Given the description of an element on the screen output the (x, y) to click on. 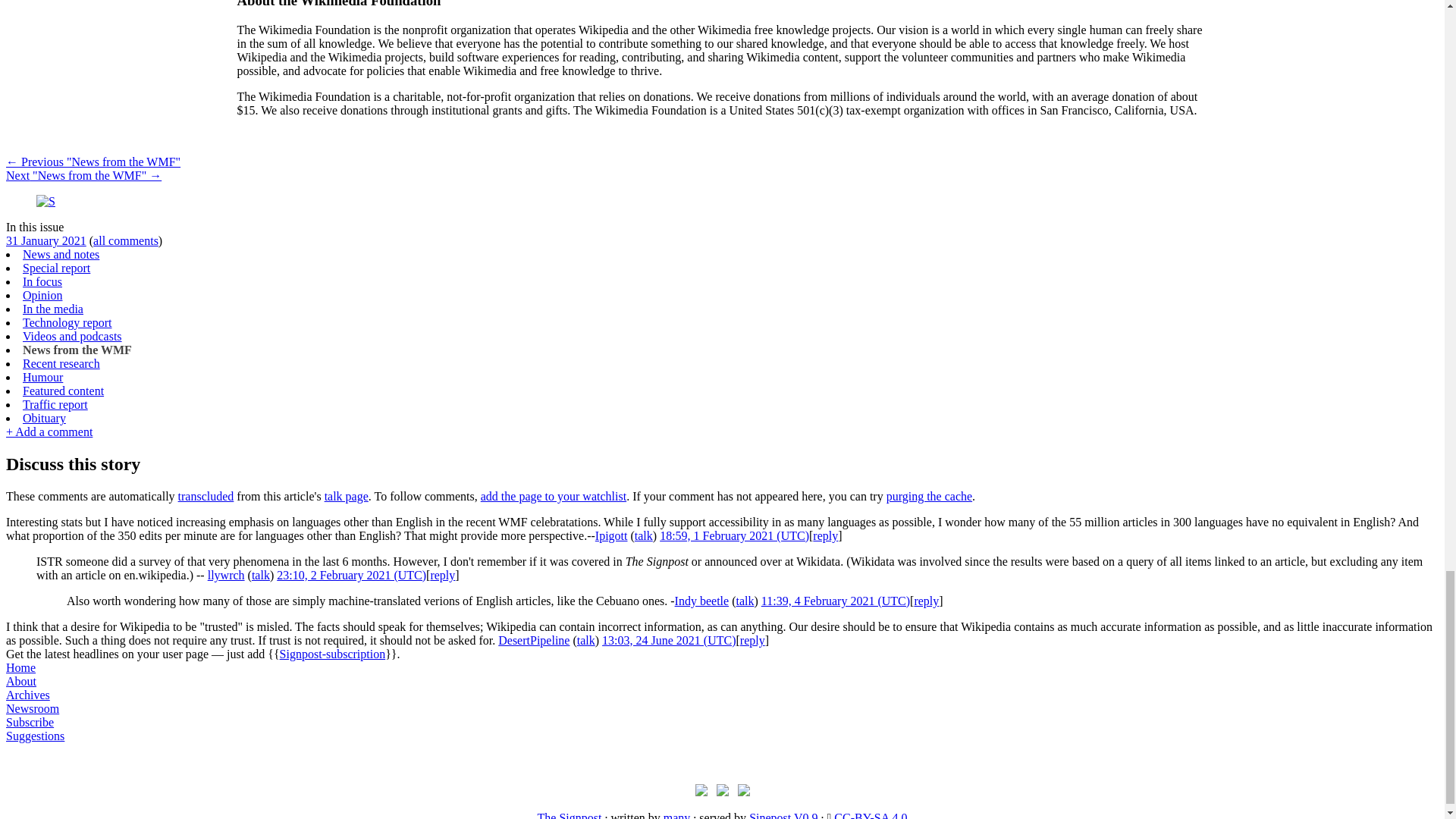
Wikipedia:Wikipedia Signpost (45, 201)
